Given the description of an element on the screen output the (x, y) to click on. 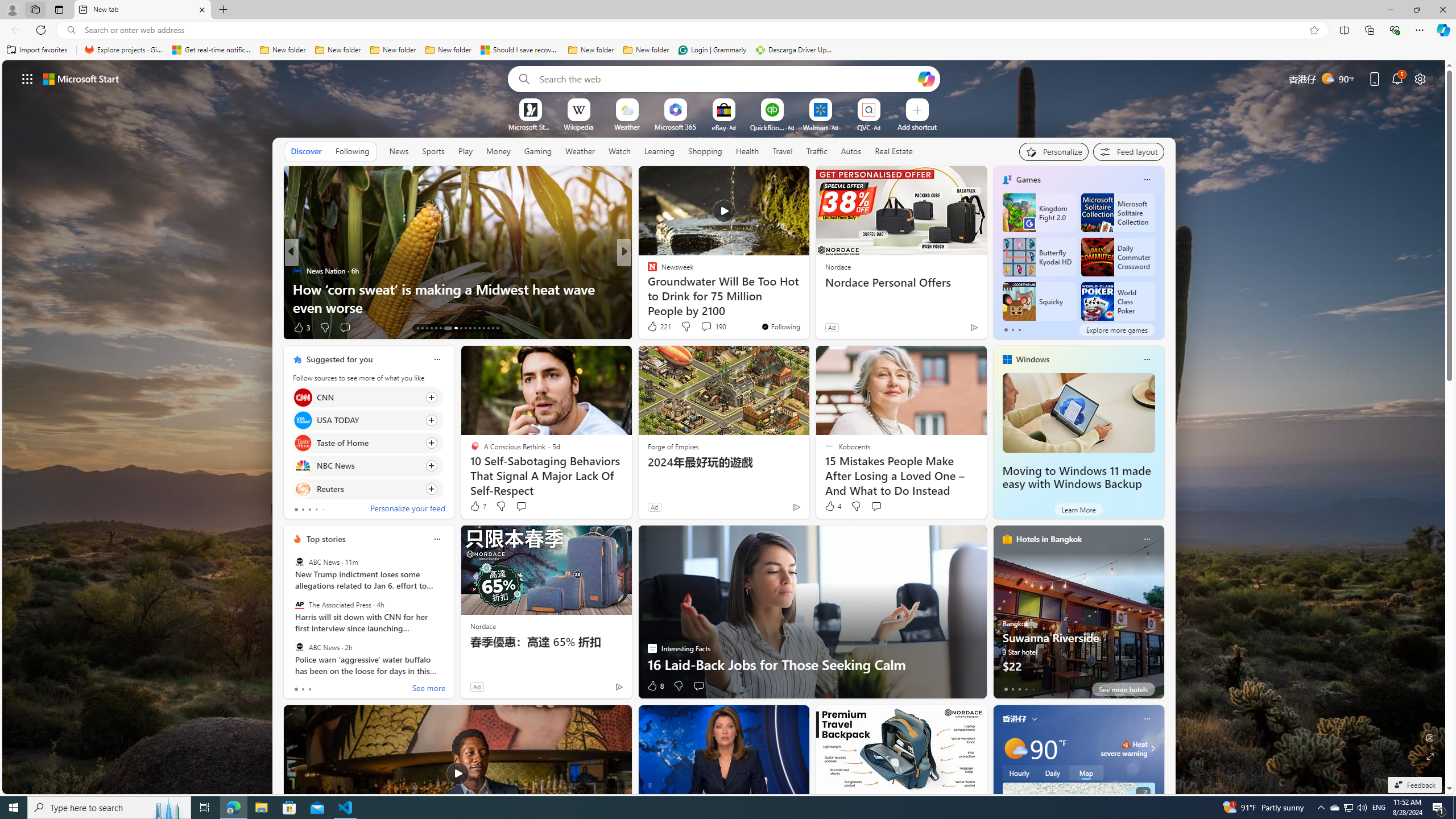
Hotels in Bangkok (1048, 538)
AutomationID: tab-28 (492, 328)
Newsweek (647, 270)
App bar (728, 29)
hotels-header-icon (1006, 538)
View comments 190 Comment (712, 326)
Following (352, 151)
Restore (1416, 9)
Learn More (1078, 509)
See more (428, 689)
Windows (1032, 359)
Should I save recovered Word documents? - Microsoft Support (519, 49)
Heat - Severe Heat severe warning (1123, 748)
Settings and more (Alt+F) (1419, 29)
